Given the description of an element on the screen output the (x, y) to click on. 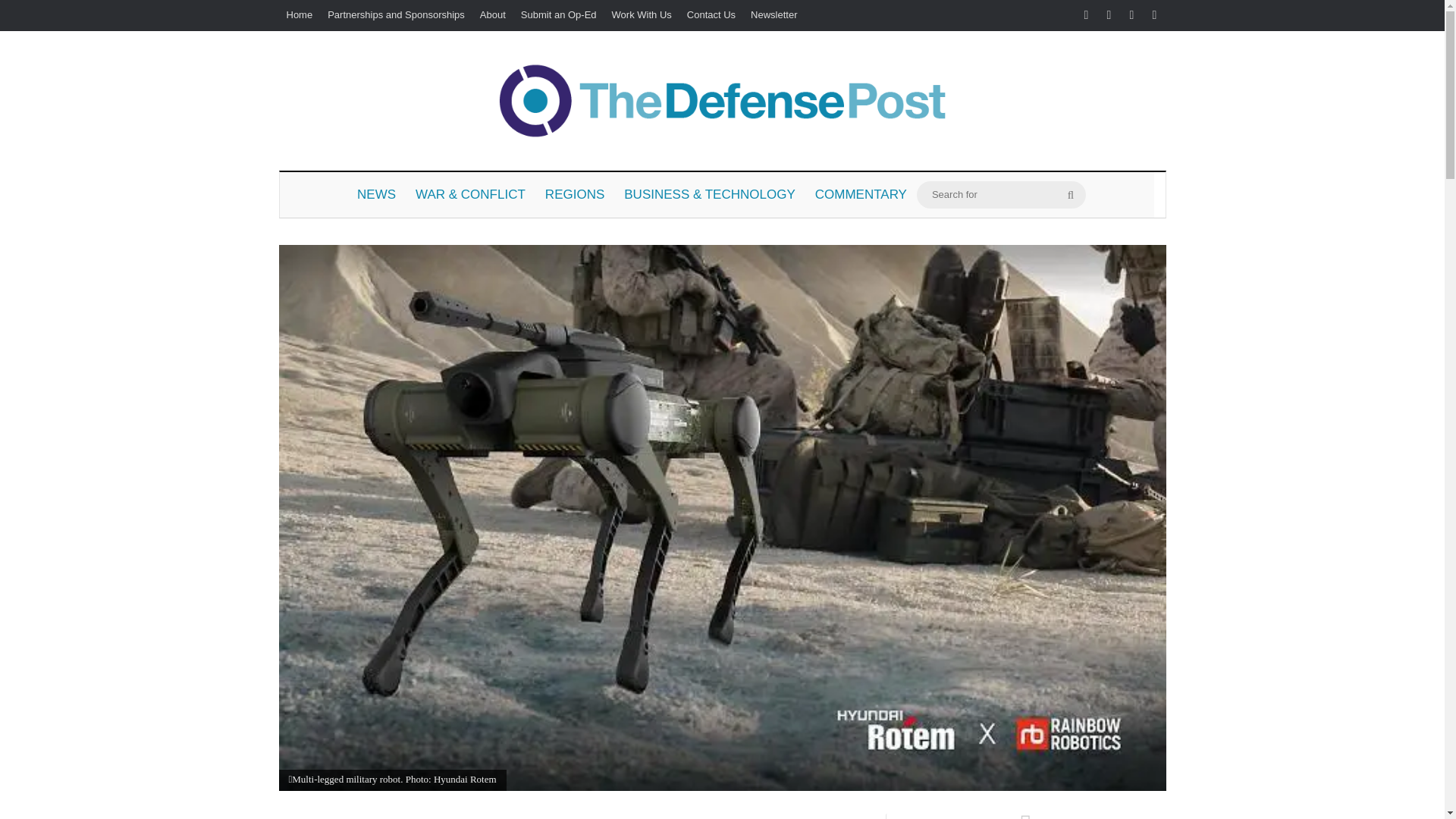
Home (299, 15)
NEWS (376, 194)
REGIONS (574, 194)
Partnerships and Sponsorships (395, 15)
COMMENTARY (861, 194)
Work With Us (641, 15)
Contact Us (710, 15)
Search for (1001, 194)
Search for (1070, 194)
About (492, 15)
Global defense news, analysis and opinion (722, 100)
Submit an Op-Ed (558, 15)
Newsletter (773, 15)
